Given the description of an element on the screen output the (x, y) to click on. 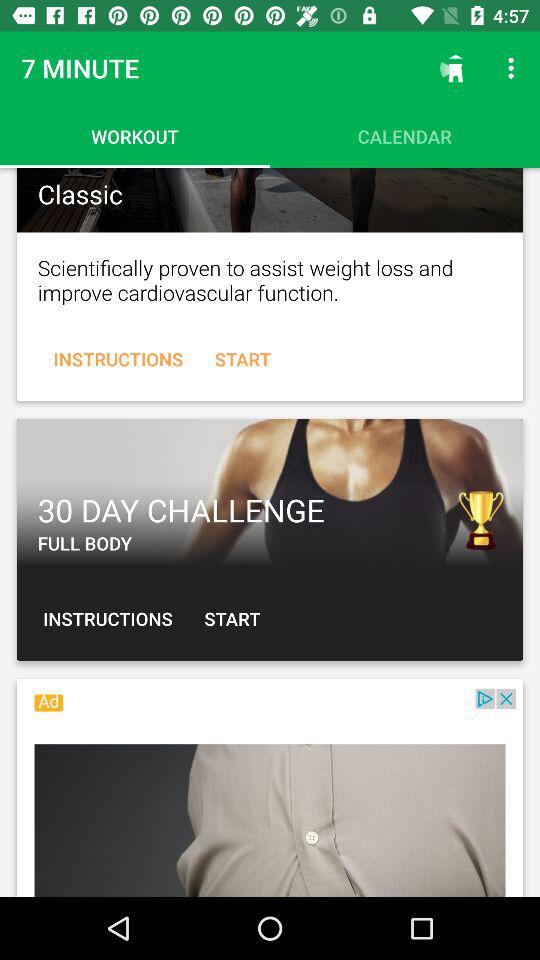
go to previous (269, 492)
